Given the description of an element on the screen output the (x, y) to click on. 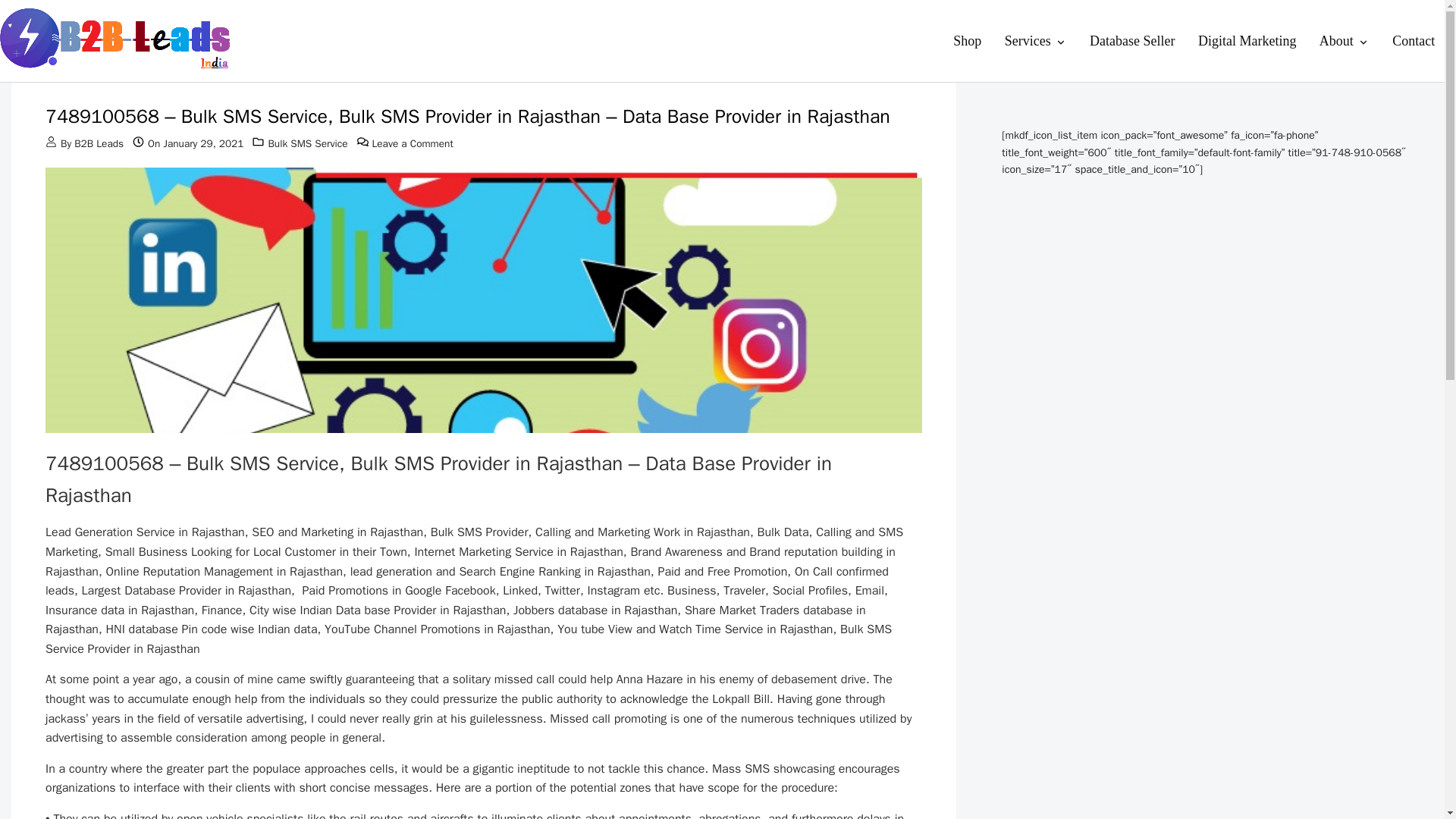
Bulk SMS Service (307, 143)
Digital Marketing (1247, 41)
About (1343, 41)
Database Seller (1132, 41)
January 29, 2021 (203, 143)
B2B LEADS (44, 87)
Shop (967, 41)
B2B Leads (98, 143)
Services (1035, 41)
Skip to content (54, 20)
